Given the description of an element on the screen output the (x, y) to click on. 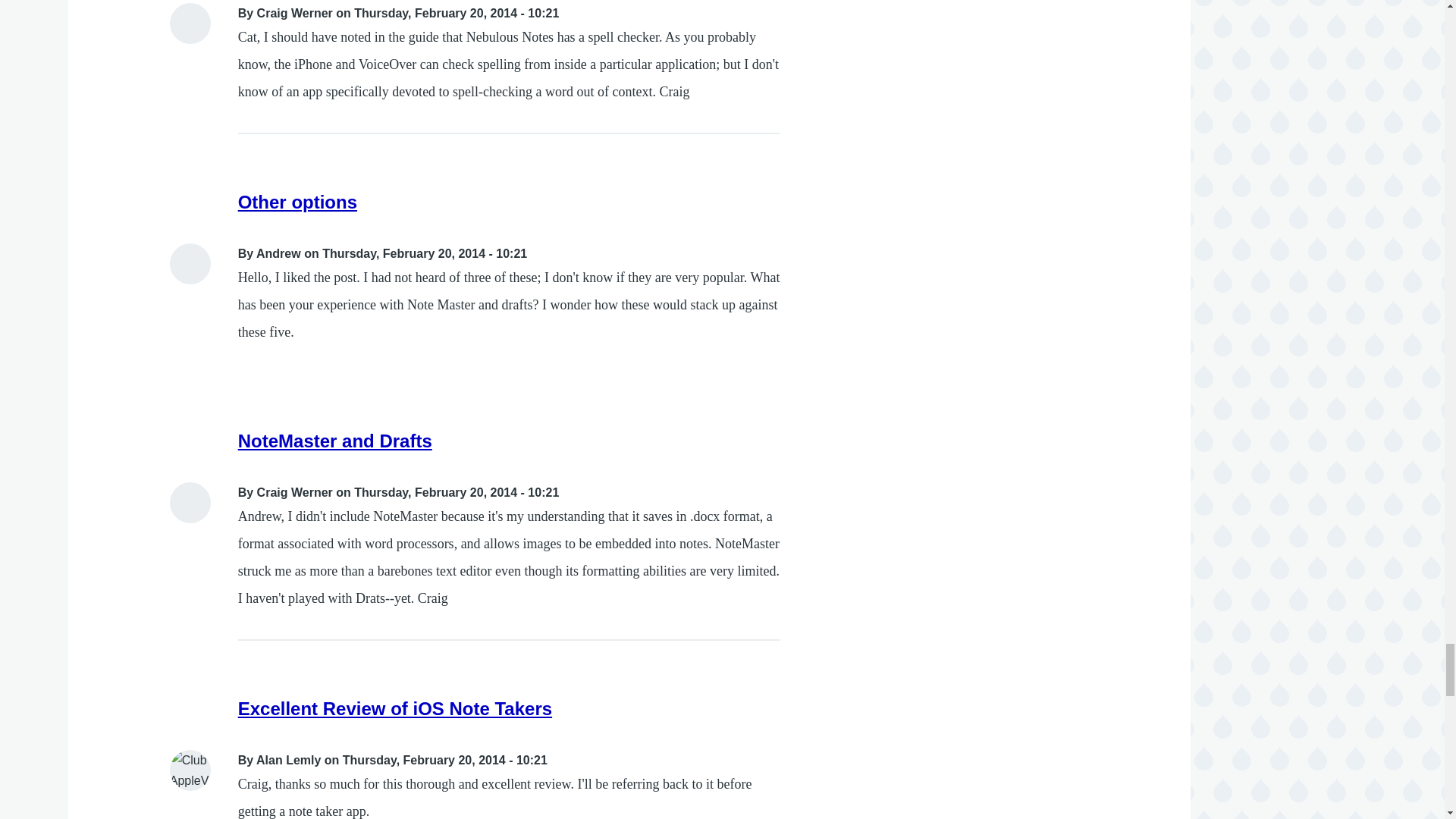
Other options (297, 201)
Excellent Review of iOS Note Takers (394, 708)
NoteMaster and Drafts (335, 440)
